Given the description of an element on the screen output the (x, y) to click on. 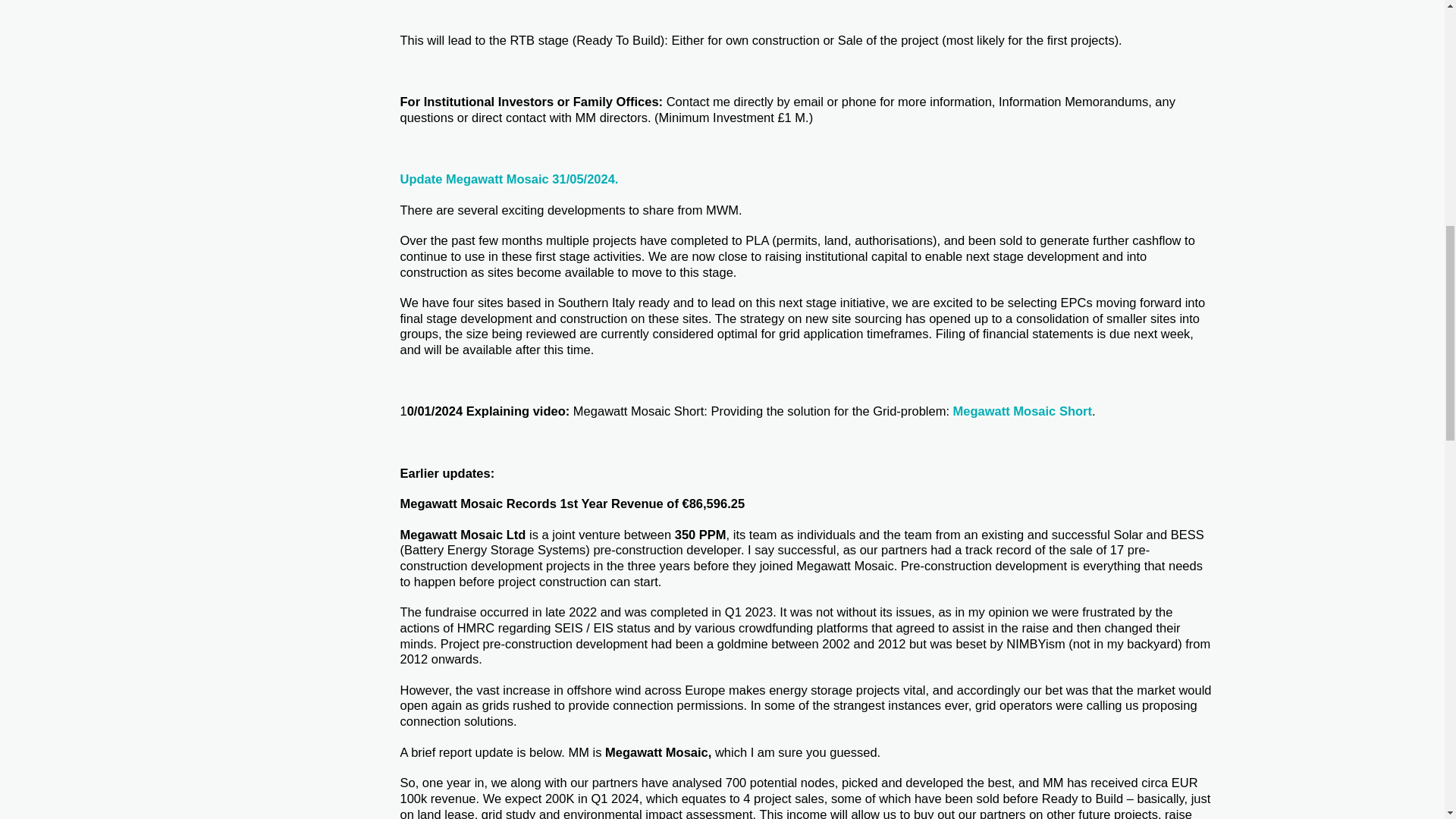
Megawatt Mosaic Short (1022, 410)
